Given the description of an element on the screen output the (x, y) to click on. 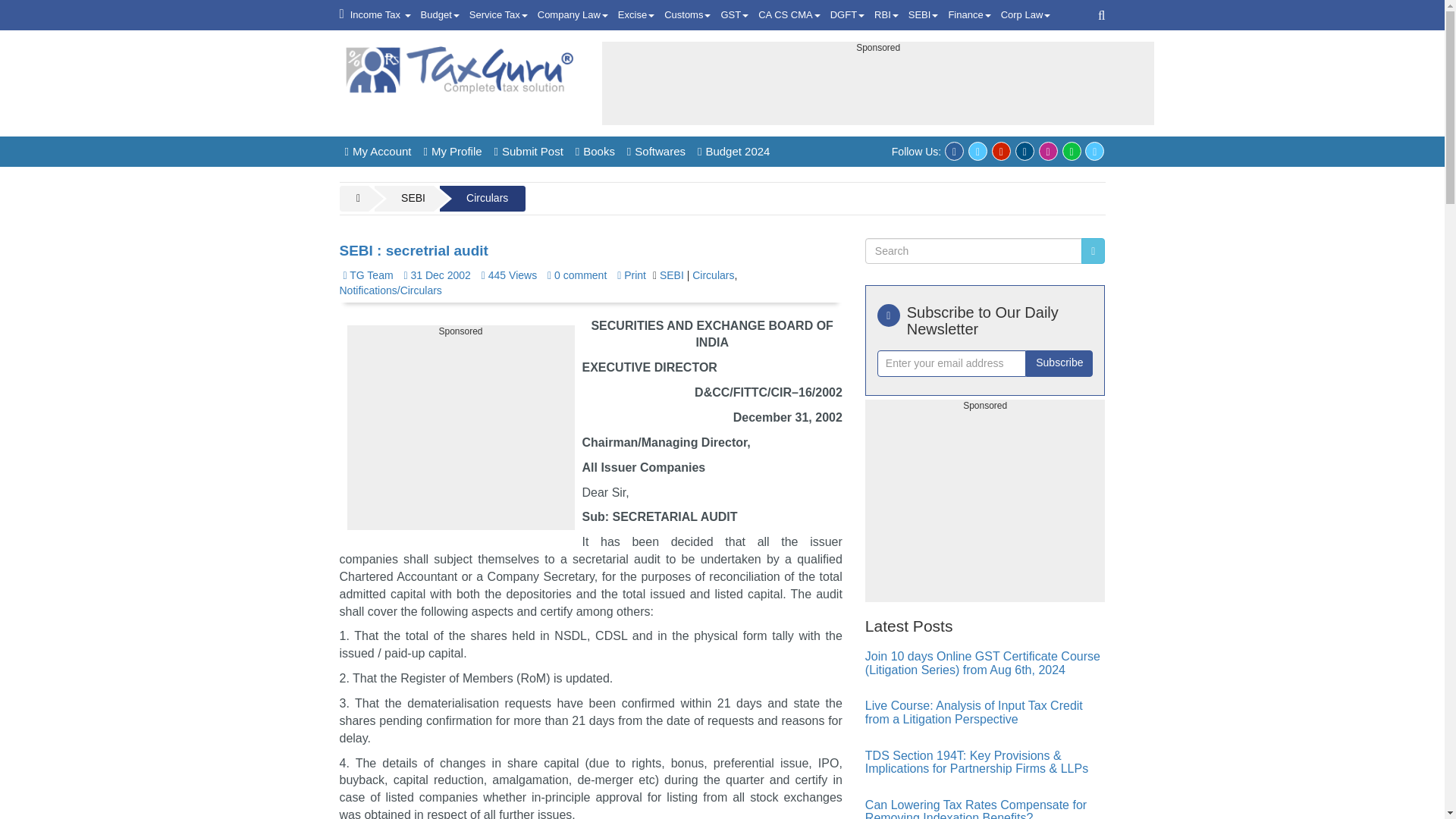
Excise (636, 15)
Union Budget 2024 Article News Notifications (439, 15)
Company Law (572, 15)
Customs (687, 15)
Income Tax (380, 15)
Service Tax (498, 15)
Income Tax Related Information (380, 15)
Budget (439, 15)
Service Tax Article News Notifications Judgments (498, 15)
